Given the description of an element on the screen output the (x, y) to click on. 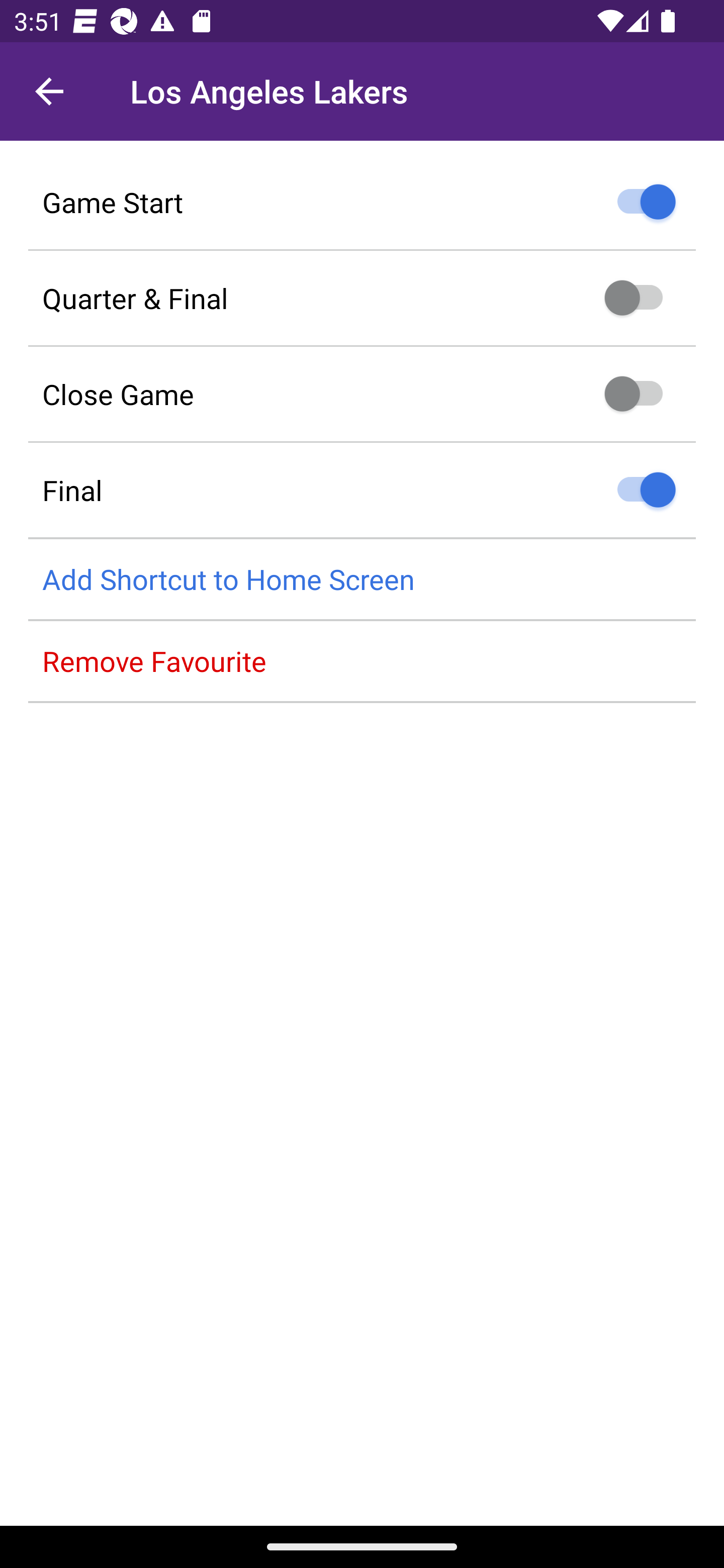
Navigate up (49, 91)
Add Shortcut to Home Screen (362, 579)
Remove Favourite (362, 661)
